Given the description of an element on the screen output the (x, y) to click on. 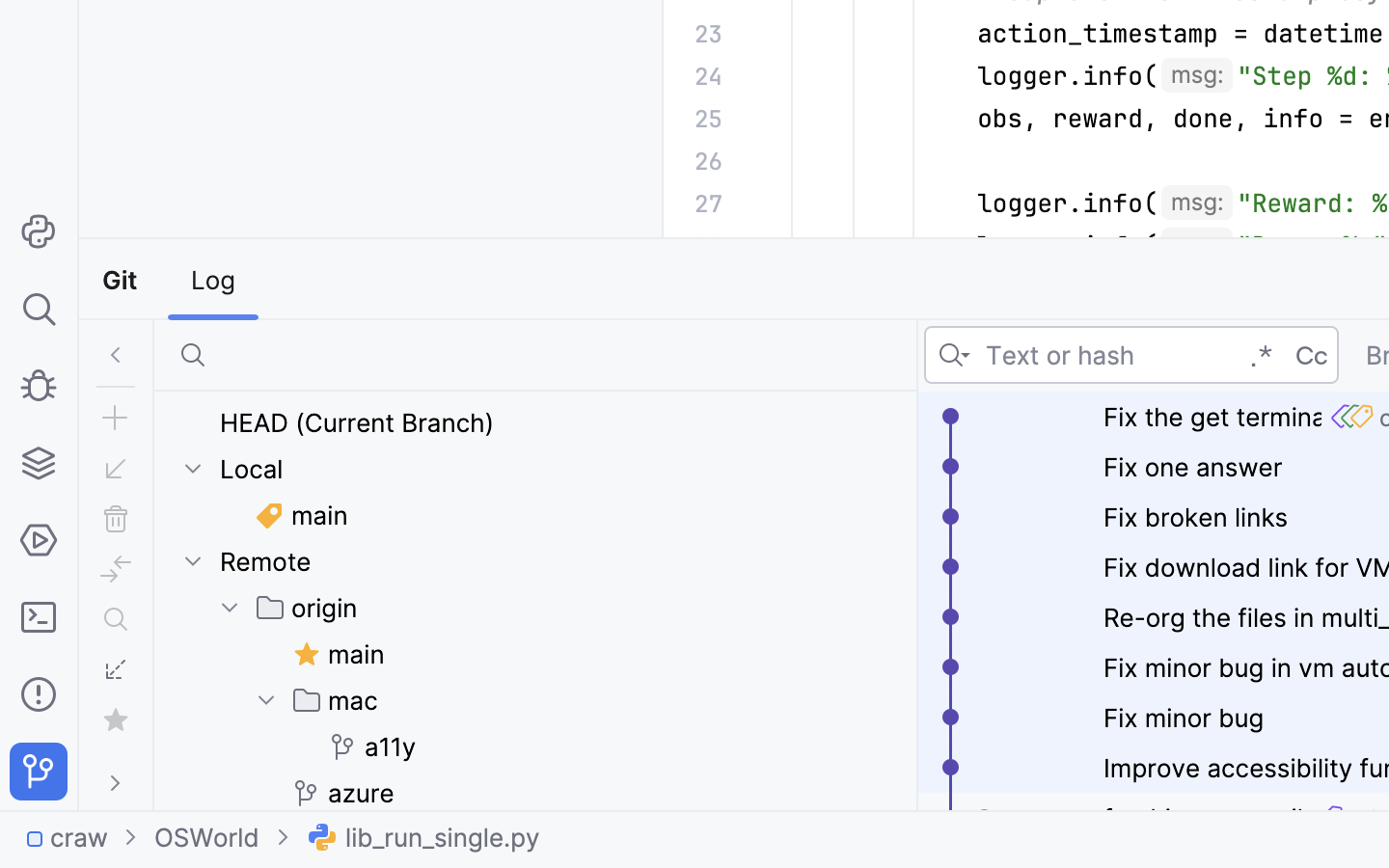
Server-Side Analysis Element type: AXStaticText (771, 279)
